Given the description of an element on the screen output the (x, y) to click on. 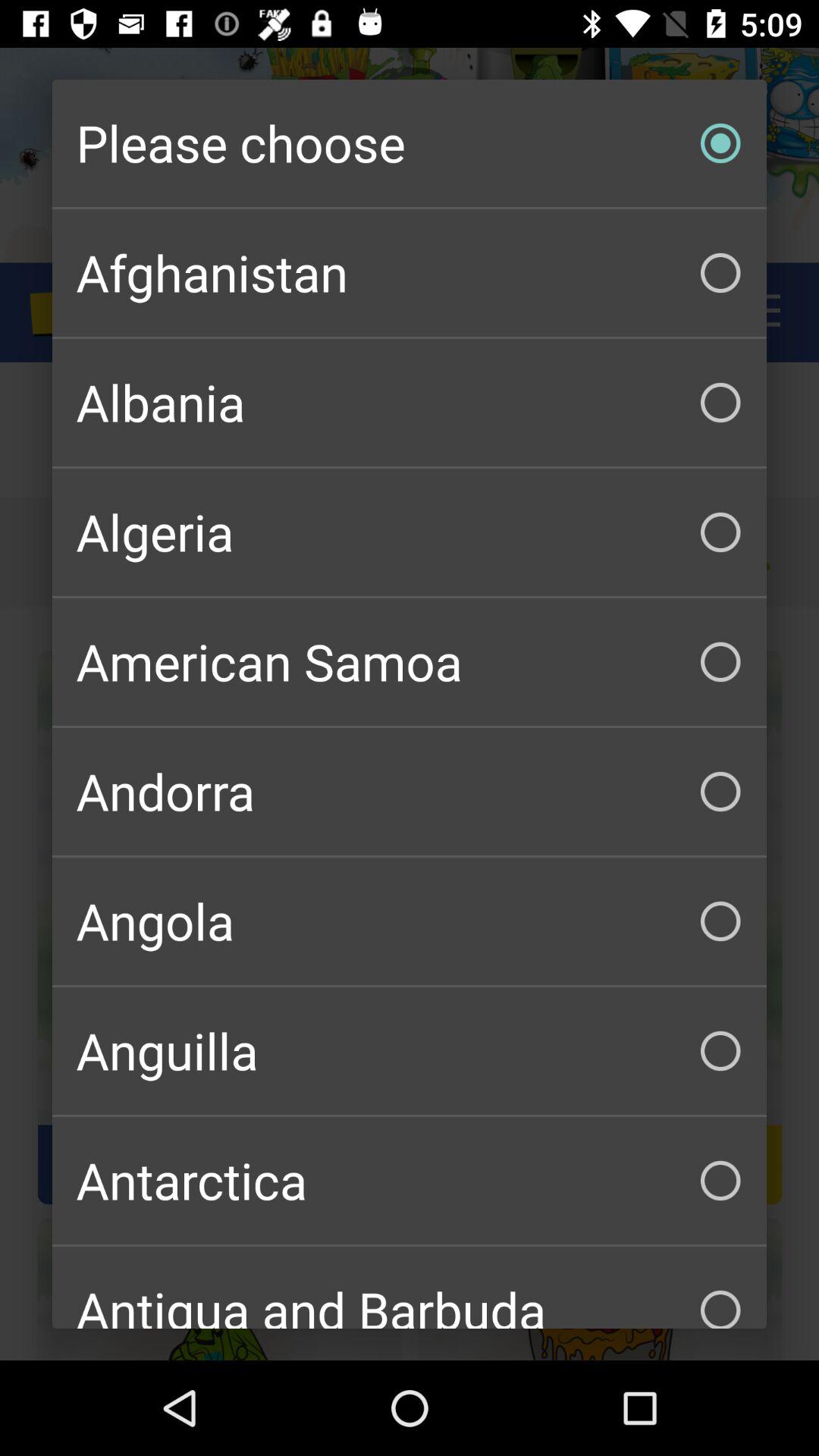
swipe until the afghanistan checkbox (409, 272)
